Given the description of an element on the screen output the (x, y) to click on. 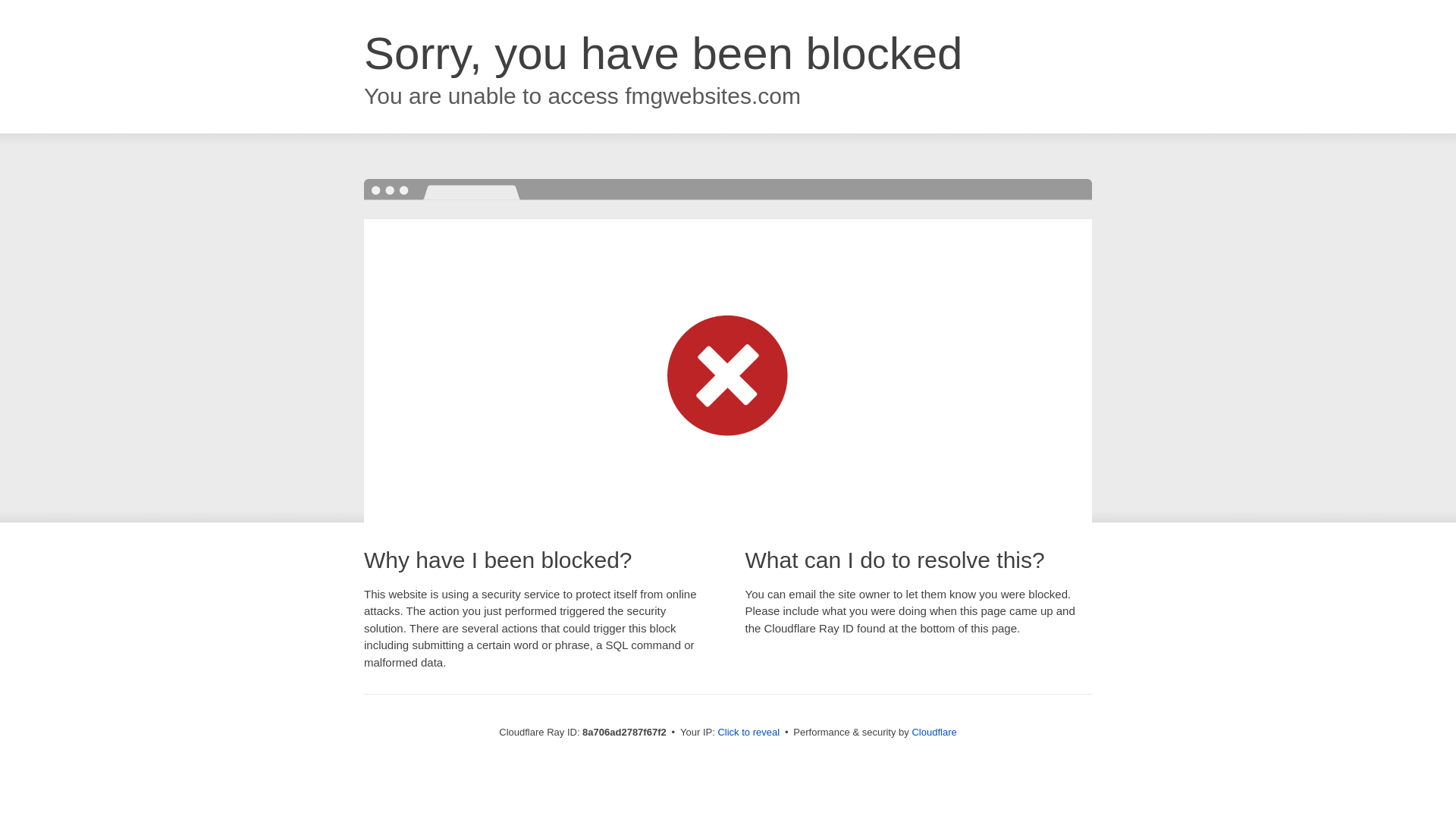
Click to reveal (747, 732)
Cloudflare (933, 731)
